Given the description of an element on the screen output the (x, y) to click on. 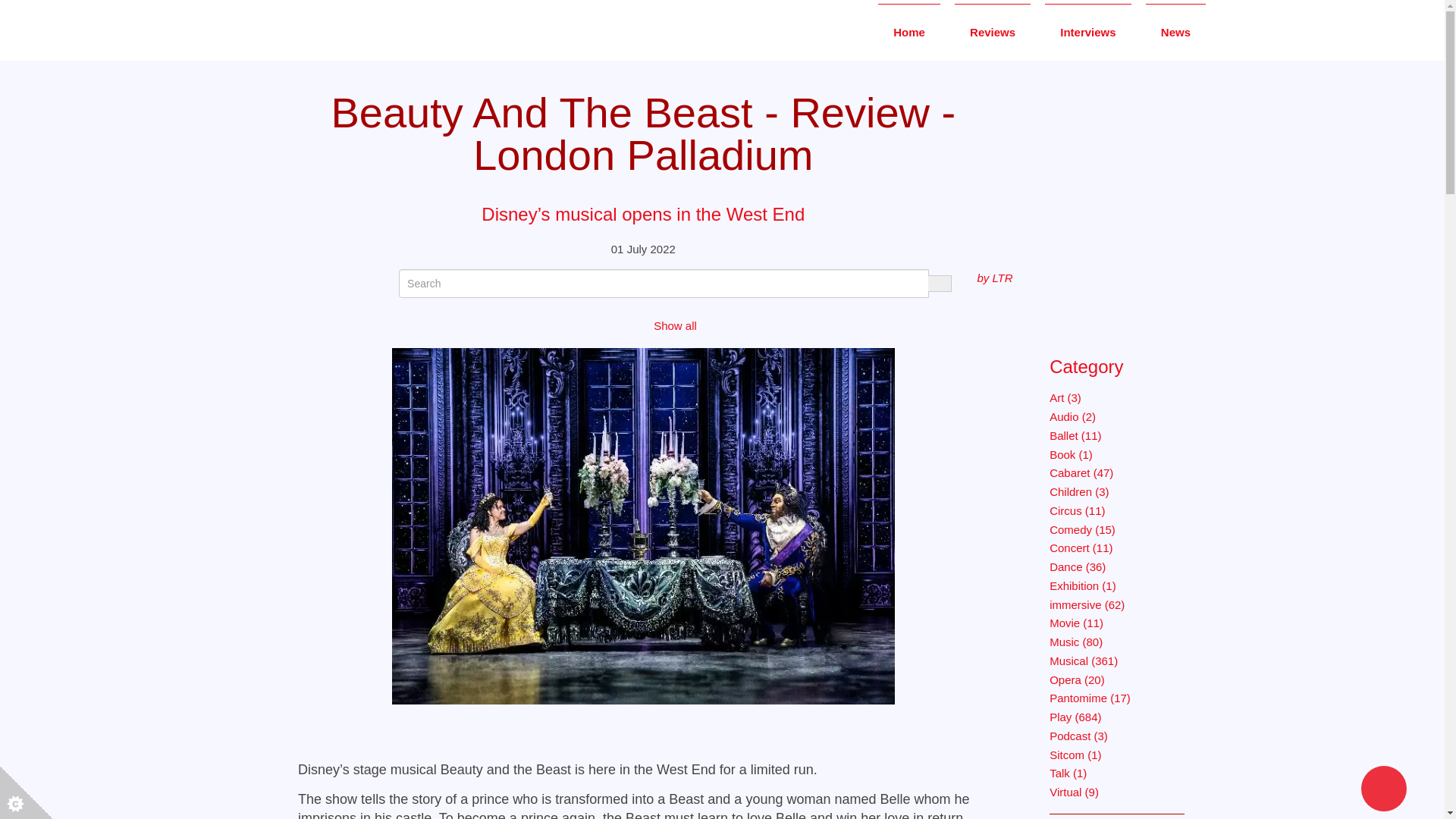
by LTR (993, 277)
News (1175, 31)
Cookie Control (26, 792)
Show all (675, 325)
Reviews (992, 31)
Home (908, 31)
Interviews (1088, 31)
